Given the description of an element on the screen output the (x, y) to click on. 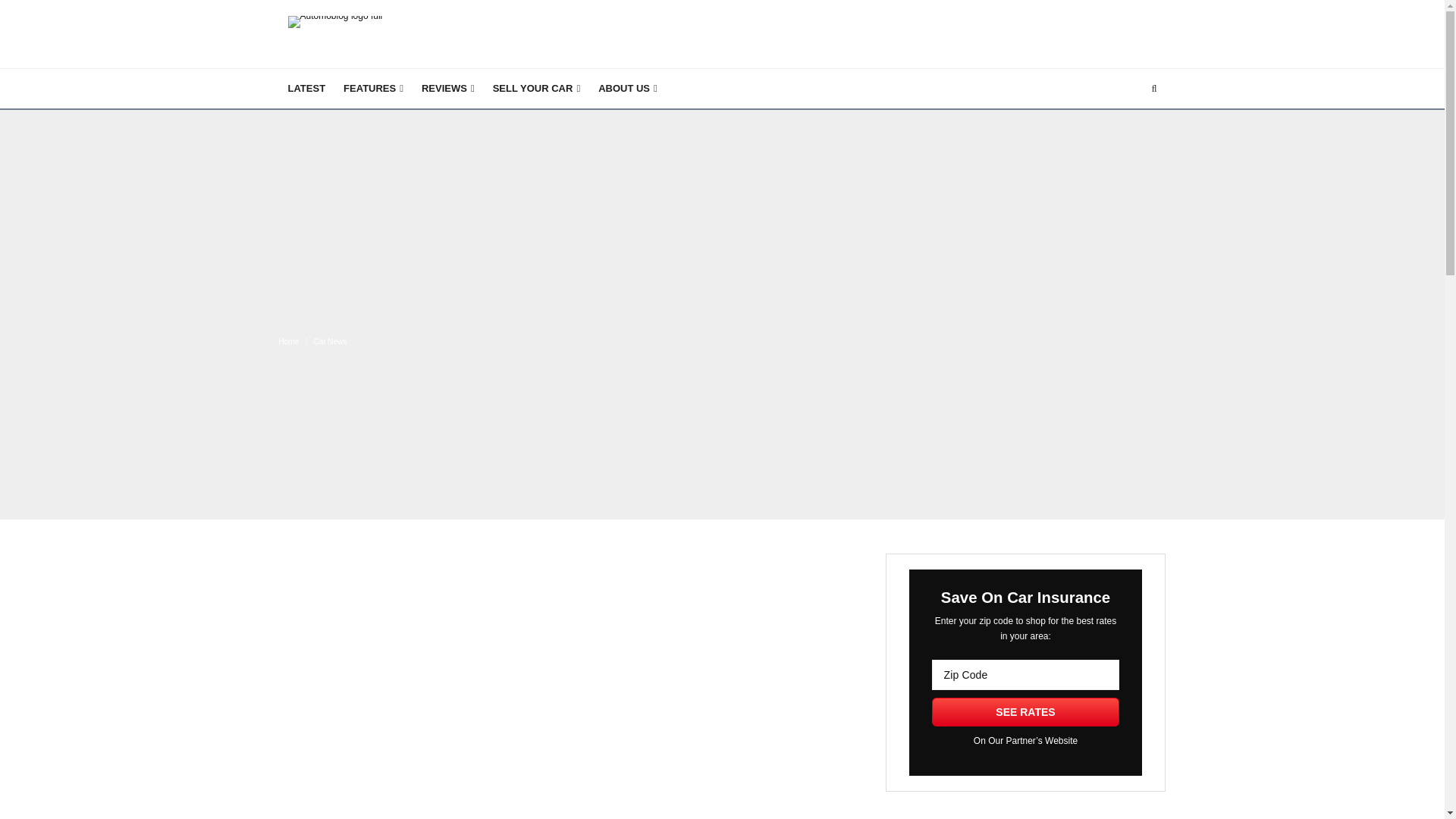
LATEST (306, 88)
REVIEWS (447, 88)
FEATURES (373, 88)
